Given the description of an element on the screen output the (x, y) to click on. 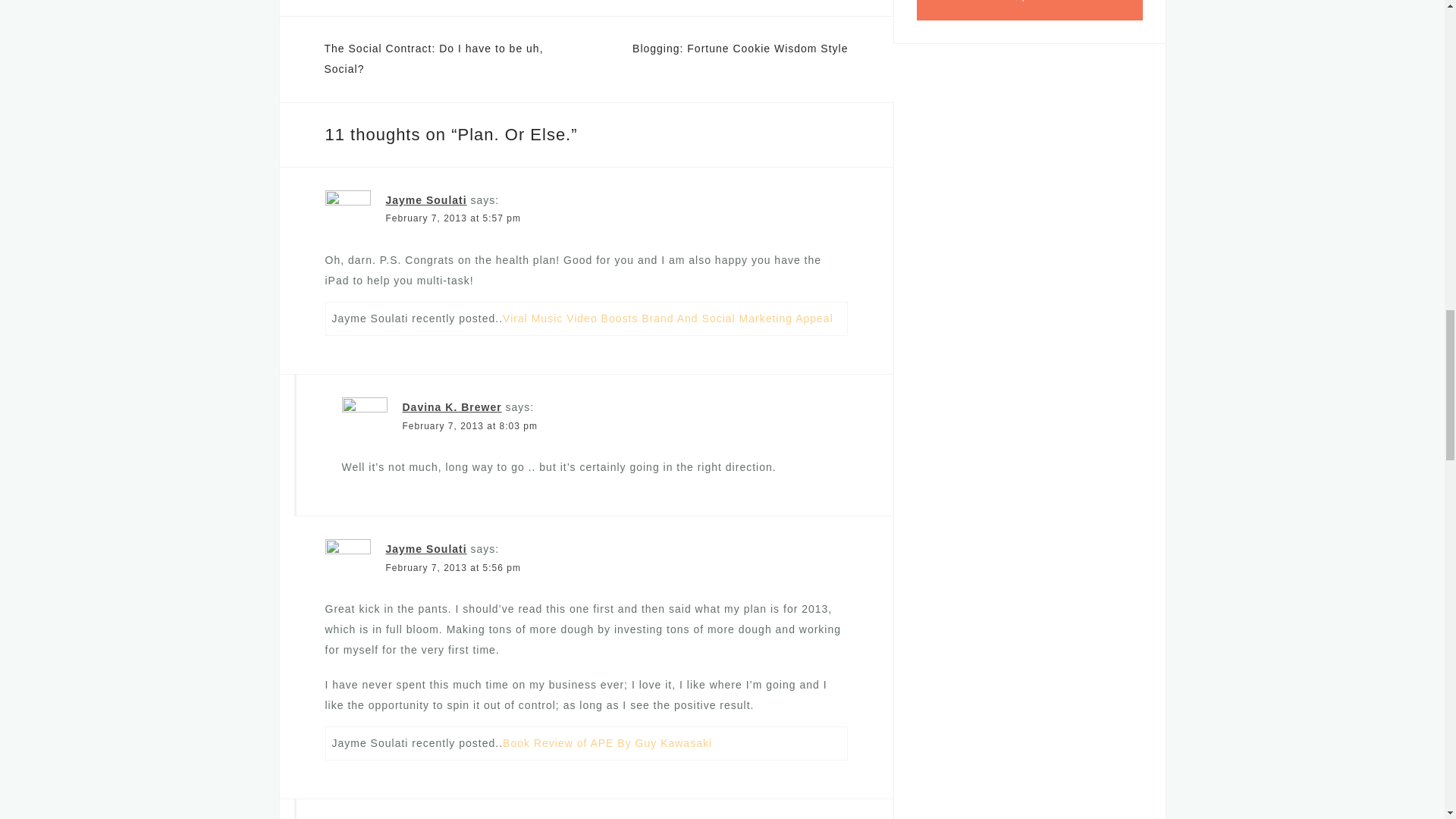
Davina K. Brewer (450, 407)
Jayme Soulati (425, 200)
Book Review of APE By Guy Kawasaki (606, 743)
Blogging: Fortune Cookie Wisdom Style (739, 48)
Viral Music Video Boosts Brand And Social Marketing Appeal (667, 318)
February 7, 2013 at 5:56 pm (452, 567)
Jayme Soulati (425, 548)
February 7, 2013 at 8:03 pm (469, 425)
The Social Contract: Do I have to be uh, Social? (433, 58)
February 7, 2013 at 5:57 pm (452, 217)
